Given the description of an element on the screen output the (x, y) to click on. 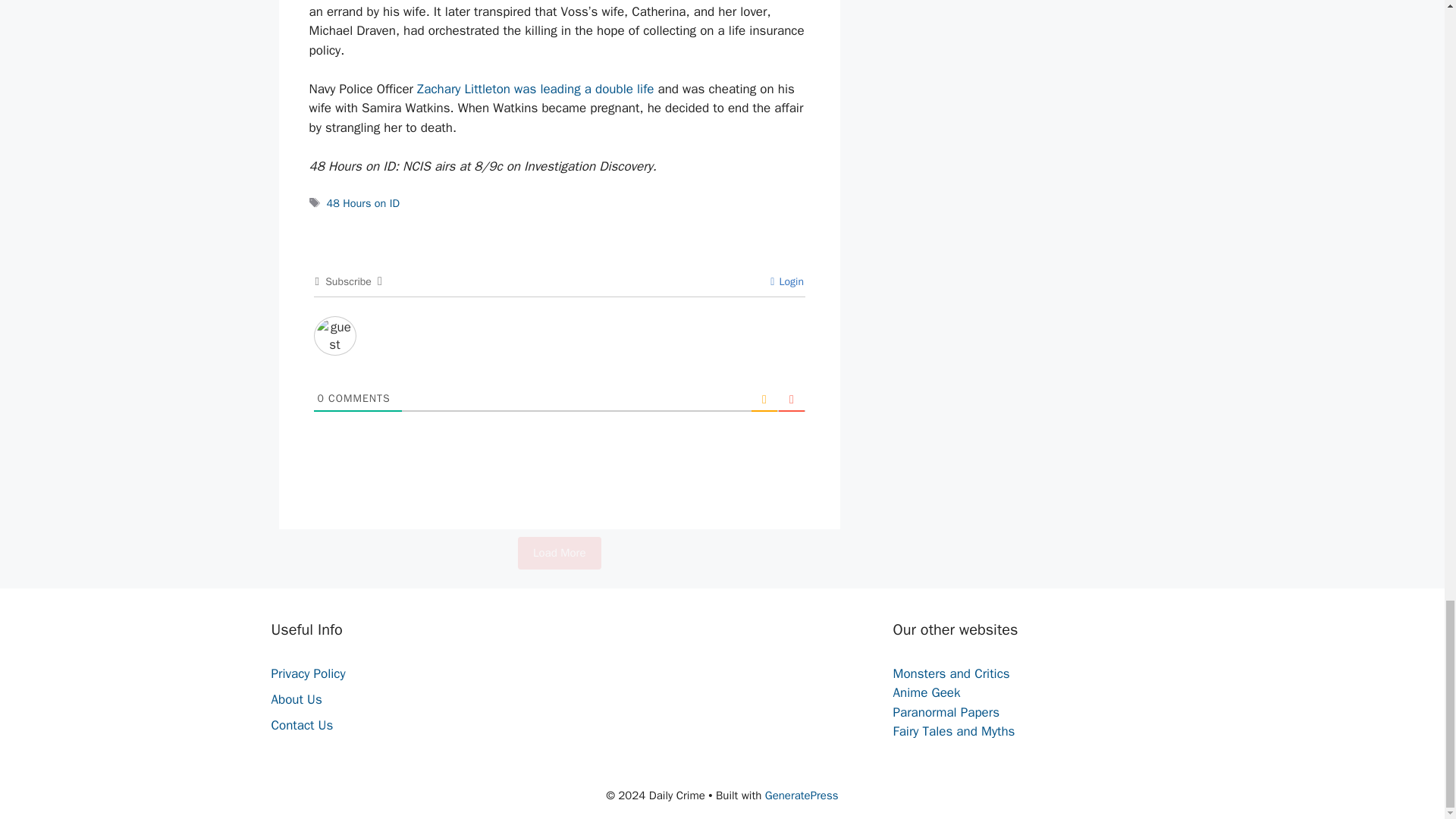
Zachary Littleton was leading a double life (534, 89)
48 Hours on ID (362, 202)
Login (786, 281)
